Given the description of an element on the screen output the (x, y) to click on. 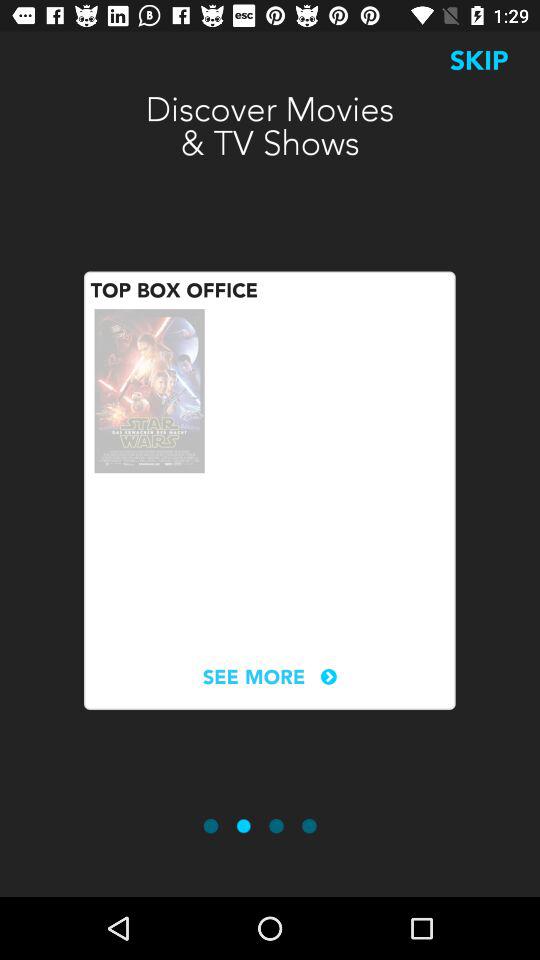
turn on the icon at the top right corner (479, 60)
